Given the description of an element on the screen output the (x, y) to click on. 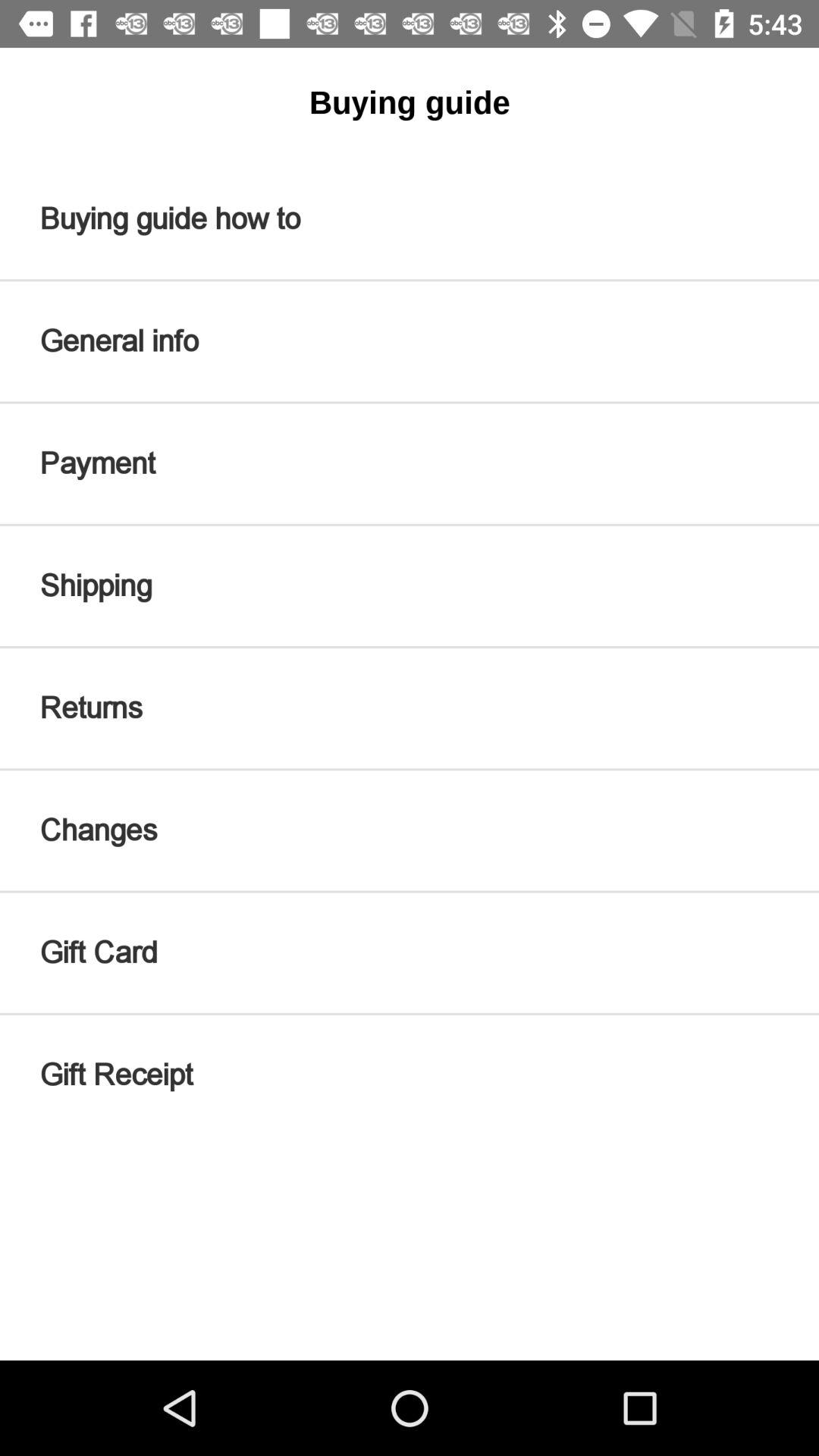
tap the icon below the changes icon (409, 952)
